Given the description of an element on the screen output the (x, y) to click on. 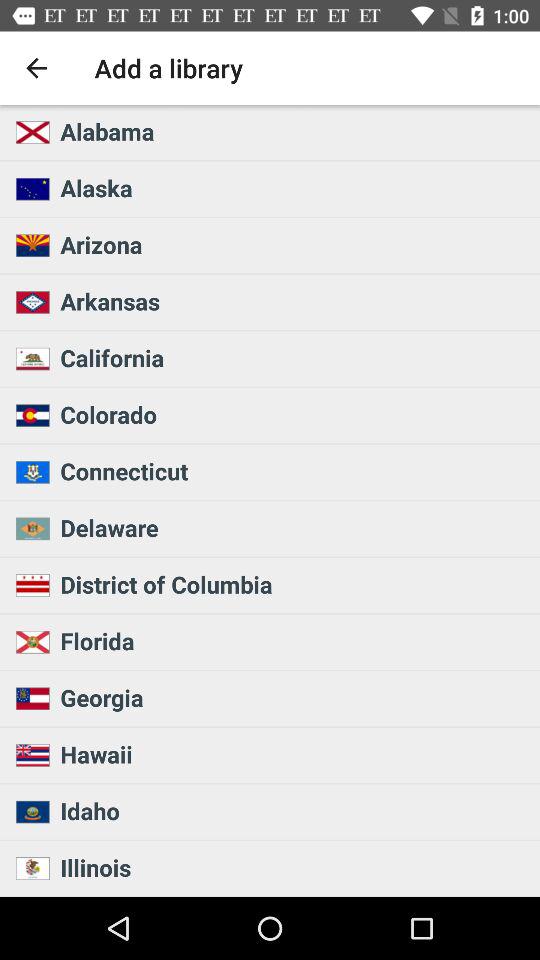
launch hawaii icon (294, 754)
